Given the description of an element on the screen output the (x, y) to click on. 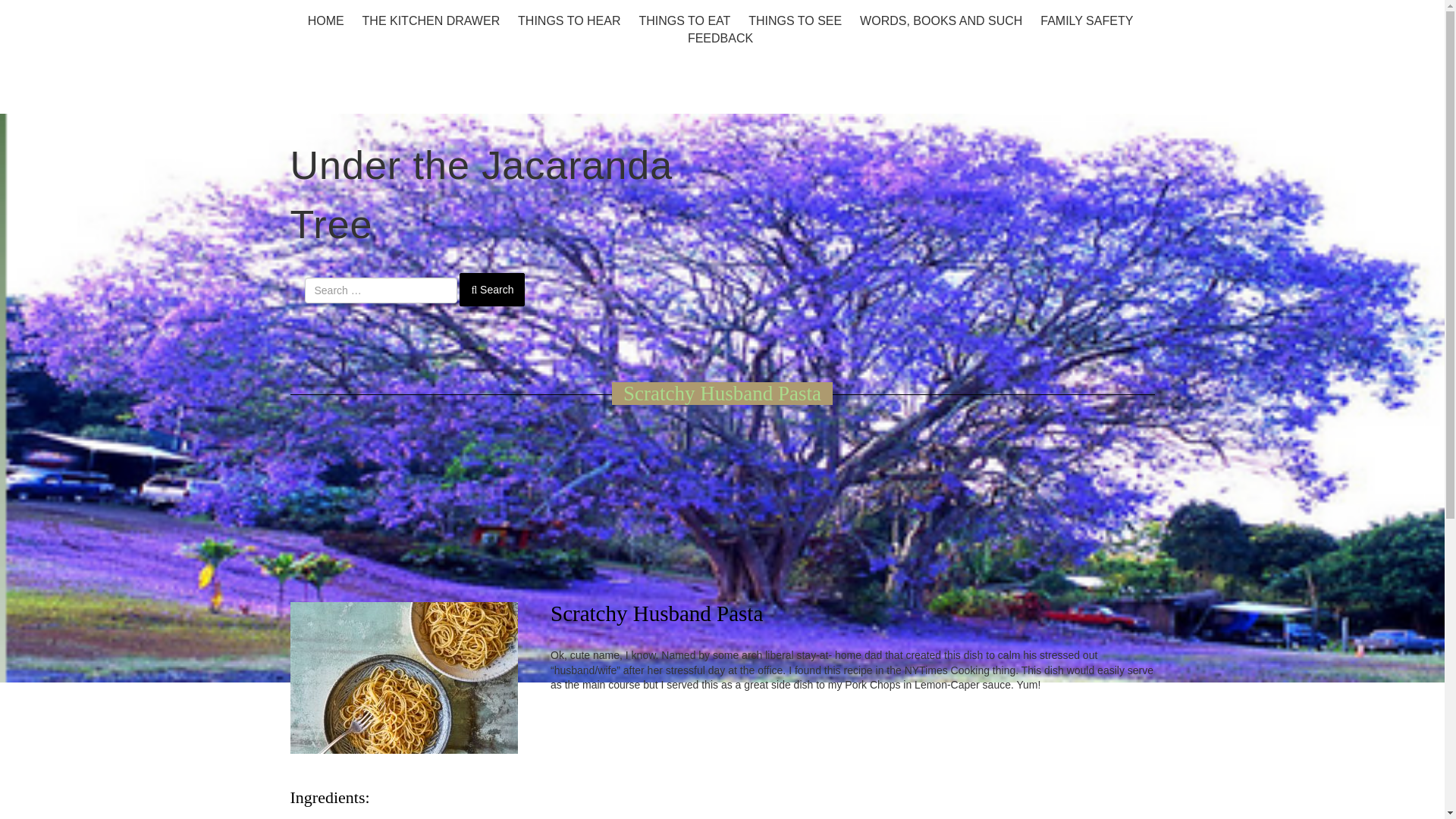
 Search (492, 289)
FEEDBACK (720, 38)
FAMILY SAFETY (1086, 20)
THE KITCHEN DRAWER (430, 20)
THINGS TO EAT (683, 20)
THINGS TO HEAR (568, 20)
WORDS, BOOKS AND SUCH (941, 20)
HOME (325, 20)
Under the Jacaranda Tree (480, 194)
THINGS TO SEE (794, 20)
